Given the description of an element on the screen output the (x, y) to click on. 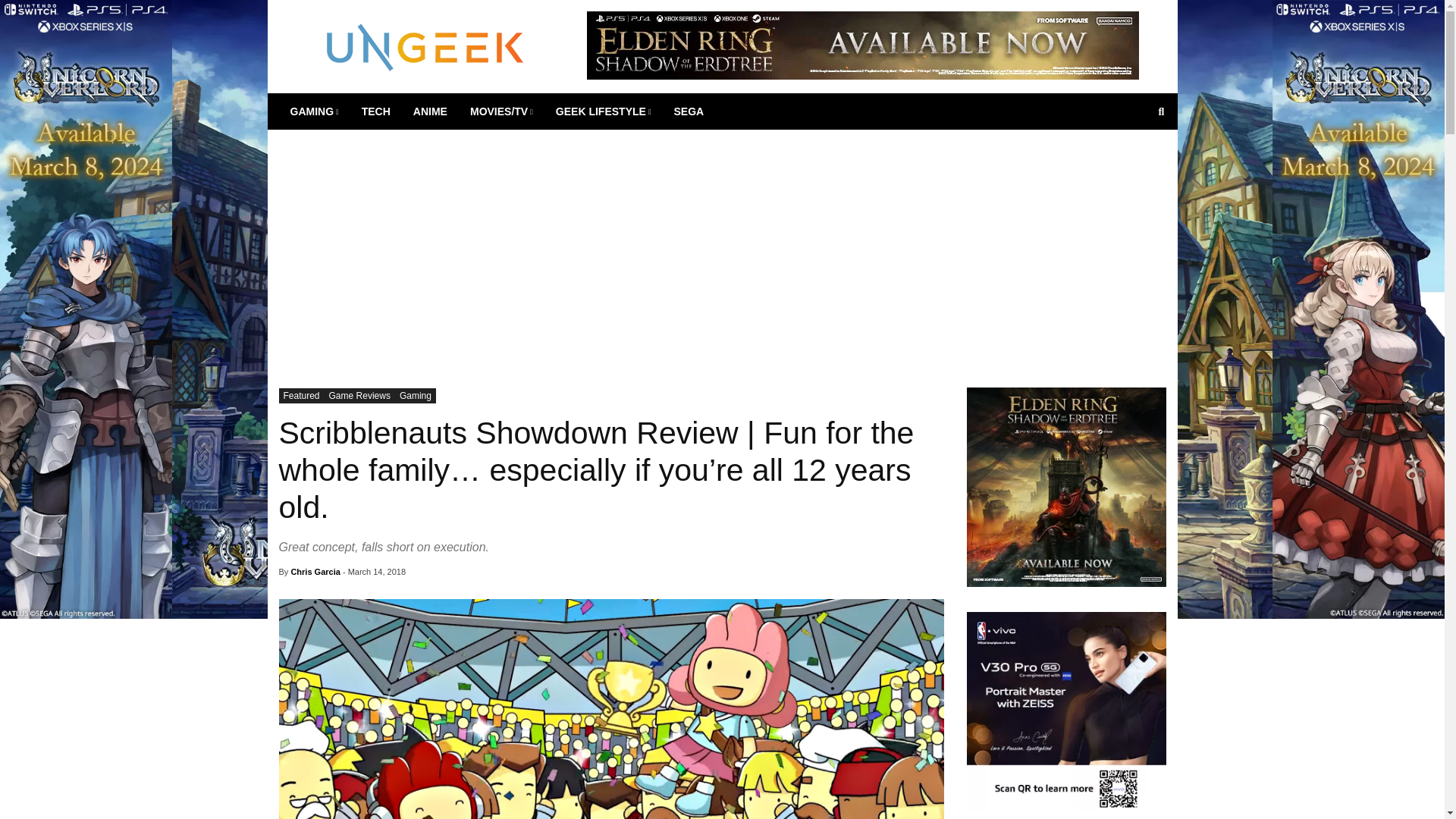
TECH (375, 111)
Chris Garcia (314, 571)
Game Reviews (359, 395)
Featured (301, 395)
SEGA (689, 111)
Posts by Chris Garcia (314, 571)
UnGeek (425, 46)
ANIME (429, 111)
GEEK LIFESTYLE (603, 111)
UnGeek (424, 46)
GAMING (314, 111)
Gaming (414, 395)
March 14, 2018 (376, 571)
